Given the description of an element on the screen output the (x, y) to click on. 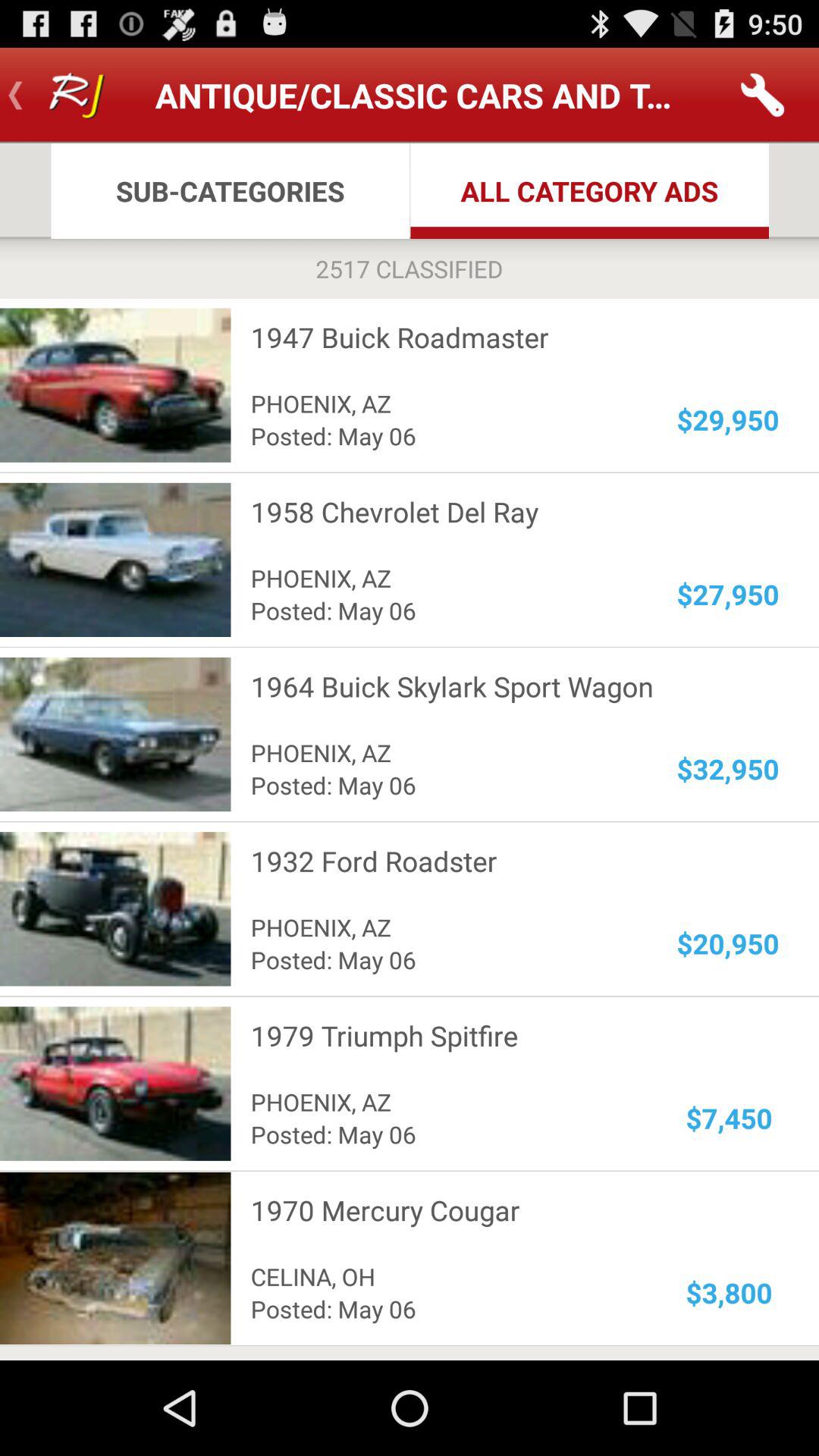
choose celina, oh icon (444, 1276)
